Given the description of an element on the screen output the (x, y) to click on. 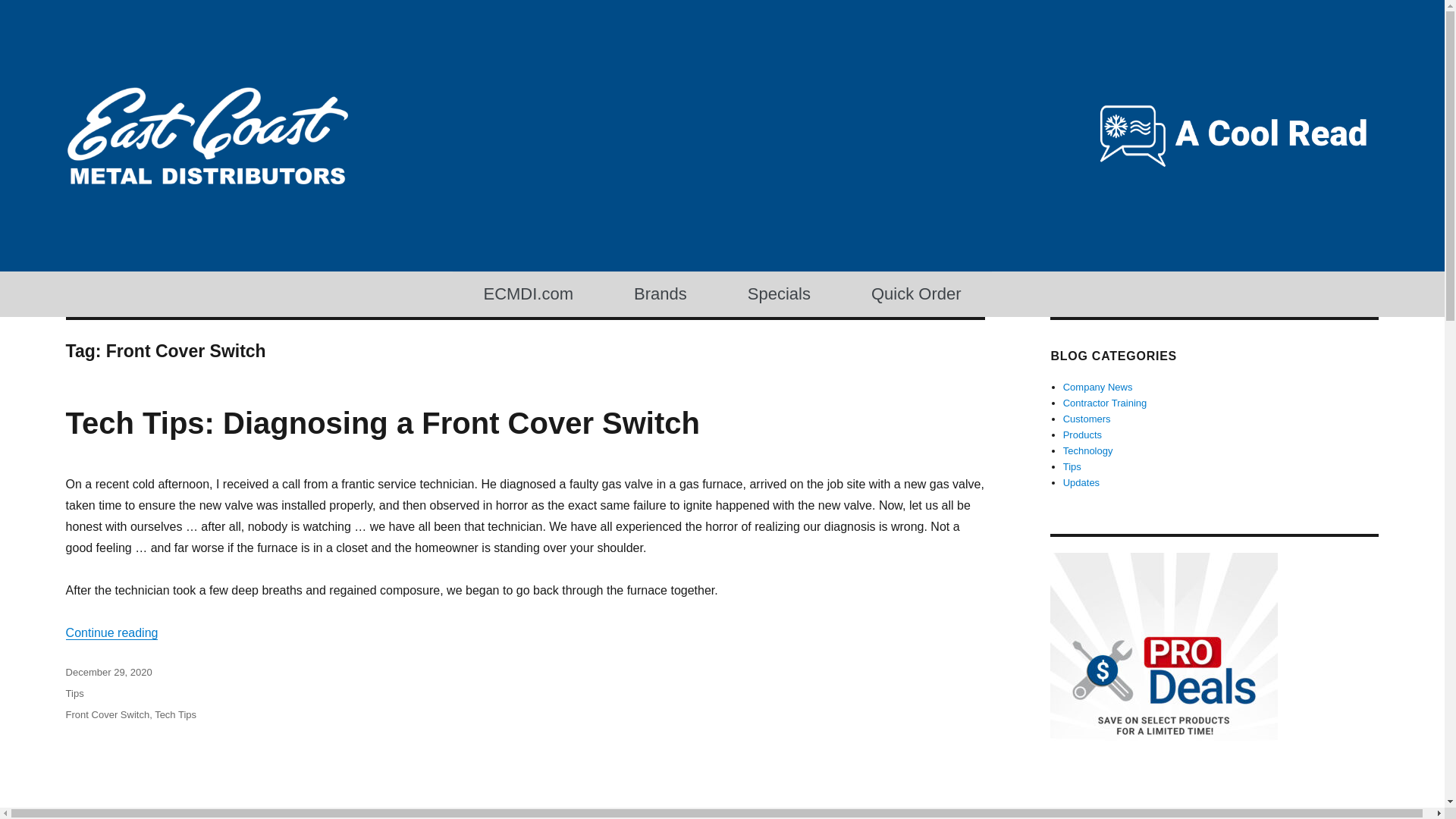
Contractor Training (1104, 402)
Tech Tips: Diagnosing a Front Cover Switch (382, 422)
Tips (1071, 466)
Tips (74, 693)
Company News (1097, 387)
Front Cover Switch (107, 714)
ECMDI.com (528, 293)
Specials (779, 293)
East Coast Metal Distributors Blog (239, 210)
Technology (1087, 450)
Quick Order (916, 293)
Brands (660, 293)
December 29, 2020 (108, 672)
Updates (1080, 482)
Tech Tips (175, 714)
